Given the description of an element on the screen output the (x, y) to click on. 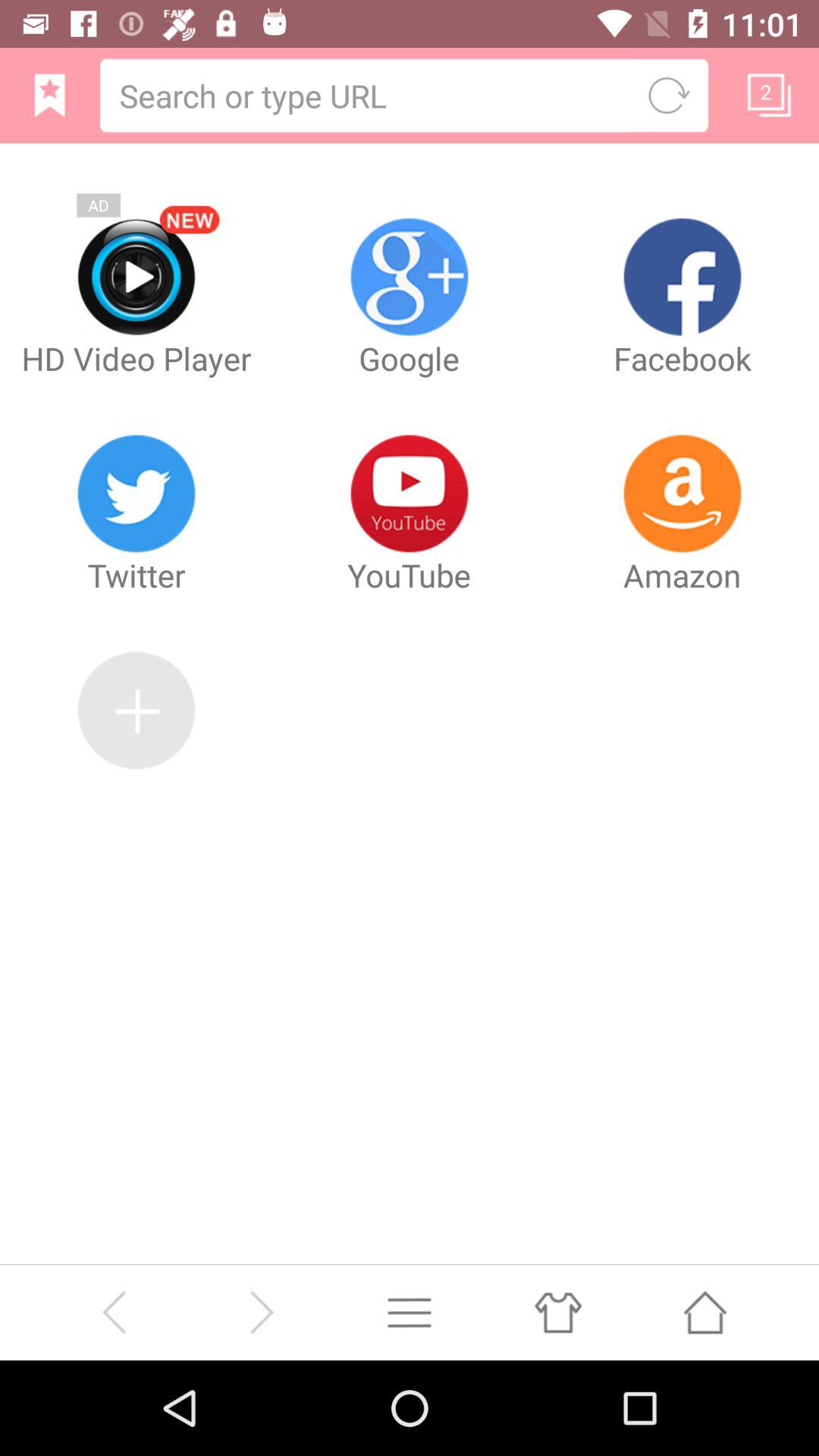
open tab display (769, 94)
